Given the description of an element on the screen output the (x, y) to click on. 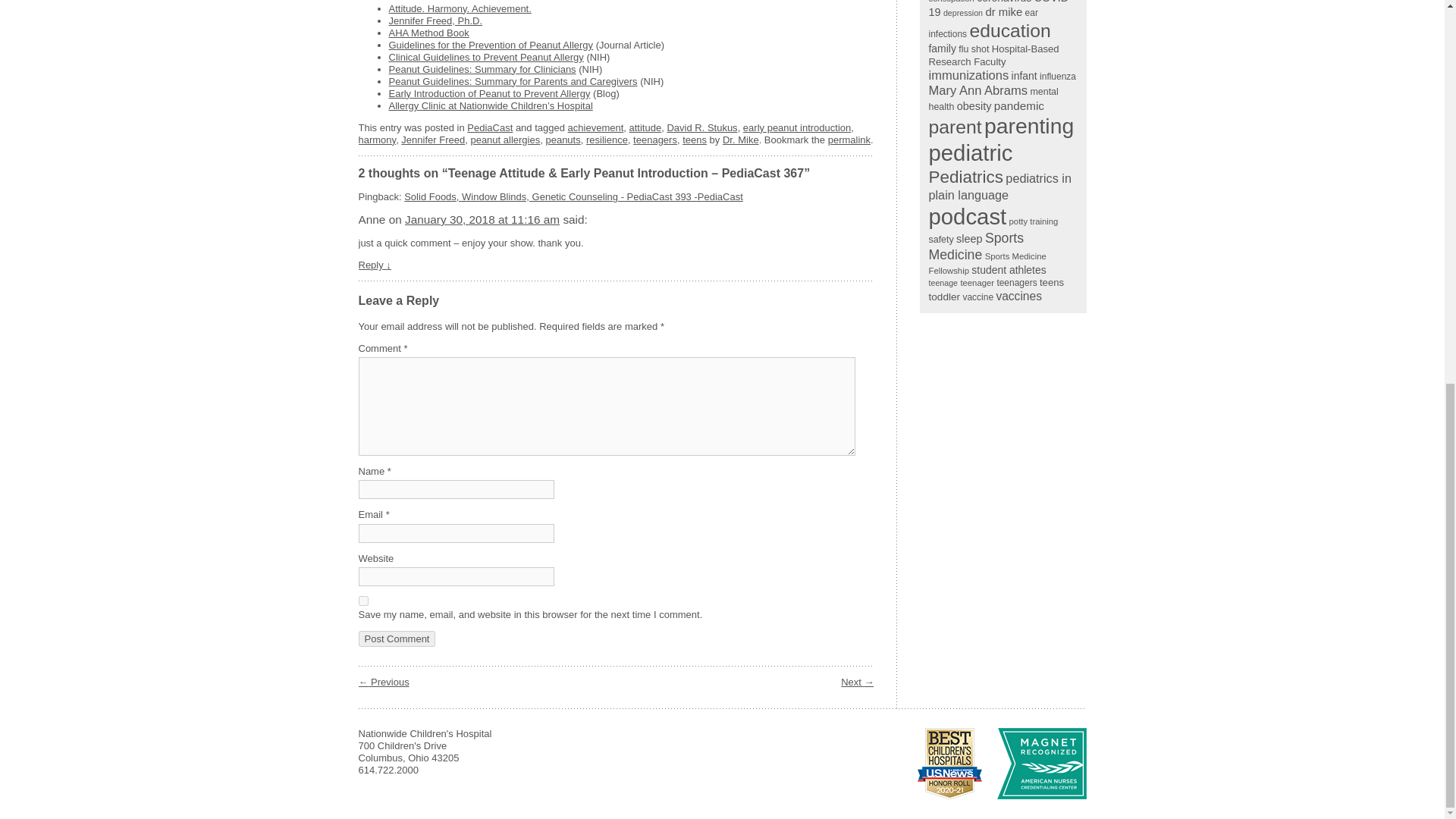
Attitude. Harmony. Achievement. (459, 8)
Peanut Guidelines: Summary for Clinicians (481, 69)
Peanut Guidelines: Summary for Parents and Caregivers (512, 81)
harmony (377, 139)
Jennifer Freed (432, 139)
early peanut introduction (796, 127)
attitude (645, 127)
yes (363, 601)
Clinical Guidelines to Prevent Peanut Allergy (485, 57)
achievement (595, 127)
